Given the description of an element on the screen output the (x, y) to click on. 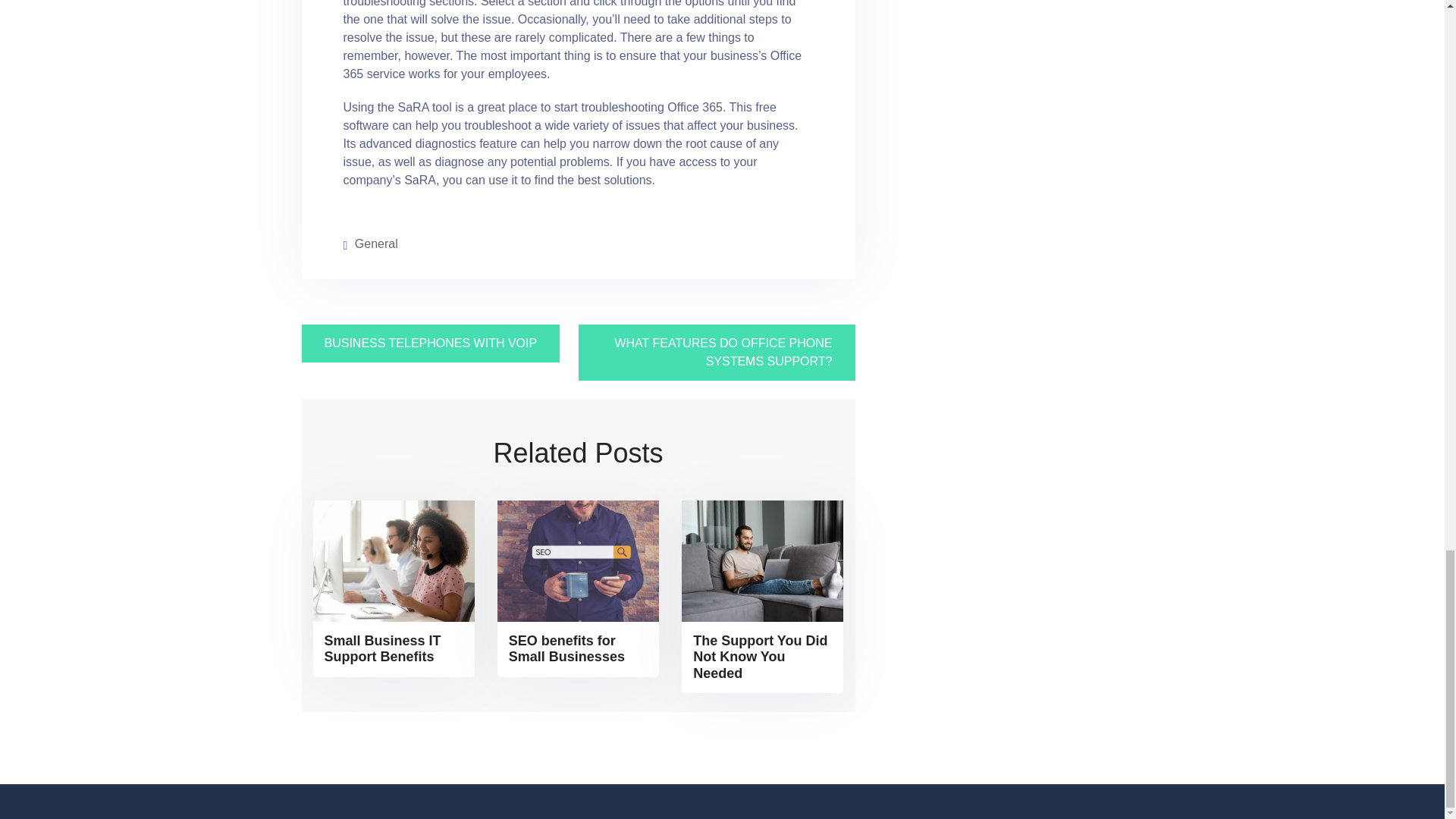
General (376, 243)
BUSINESS TELEPHONES WITH VOIP (430, 343)
SEO benefits for Small Businesses (578, 649)
WHAT FEATURES DO OFFICE PHONE SYSTEMS SUPPORT? (716, 352)
The Support You Did Not Know You Needed (762, 657)
Small Business IT Support Benefits (393, 649)
